Given the description of an element on the screen output the (x, y) to click on. 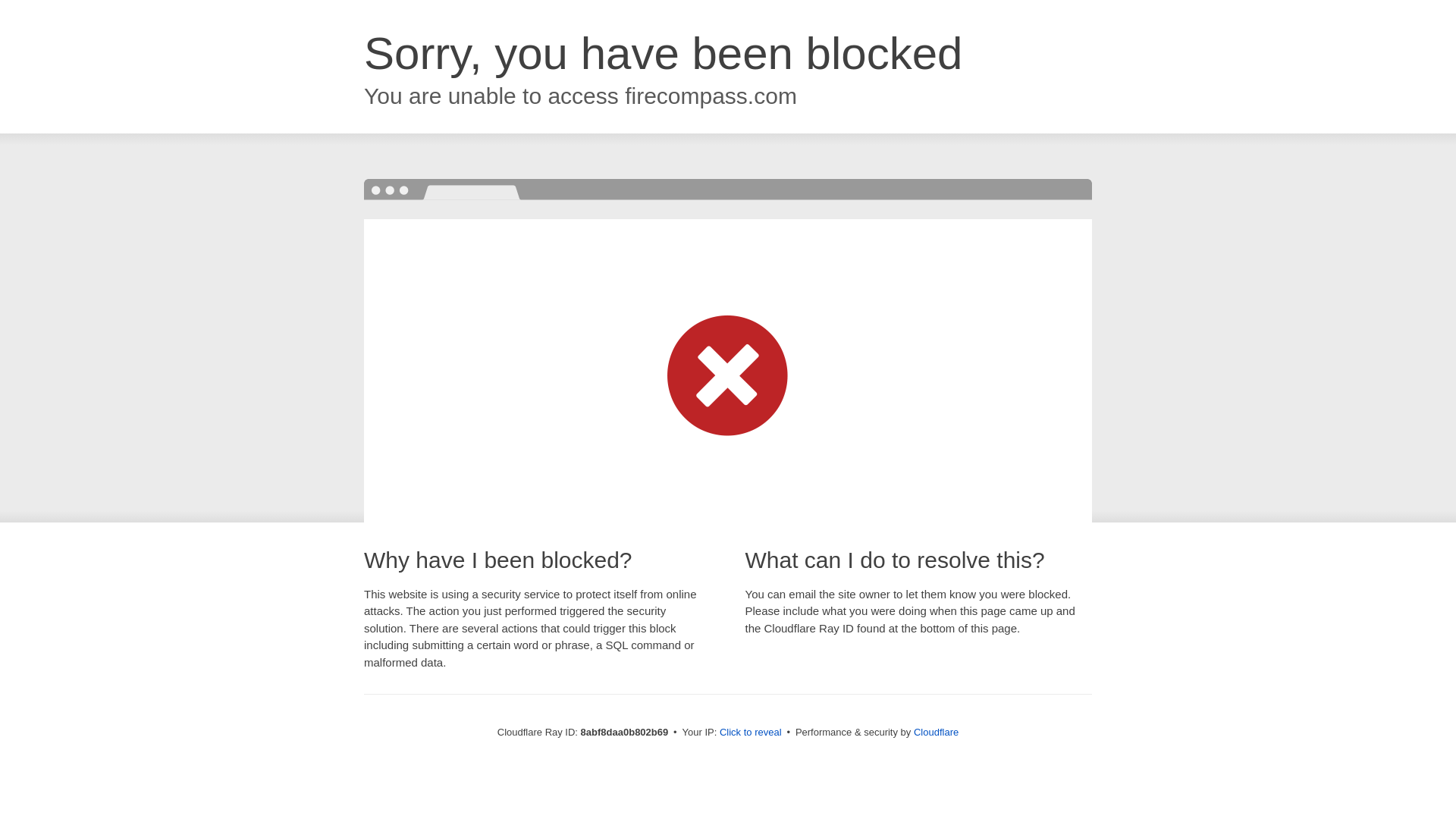
Click to reveal (750, 732)
Cloudflare (936, 731)
